Given the description of an element on the screen output the (x, y) to click on. 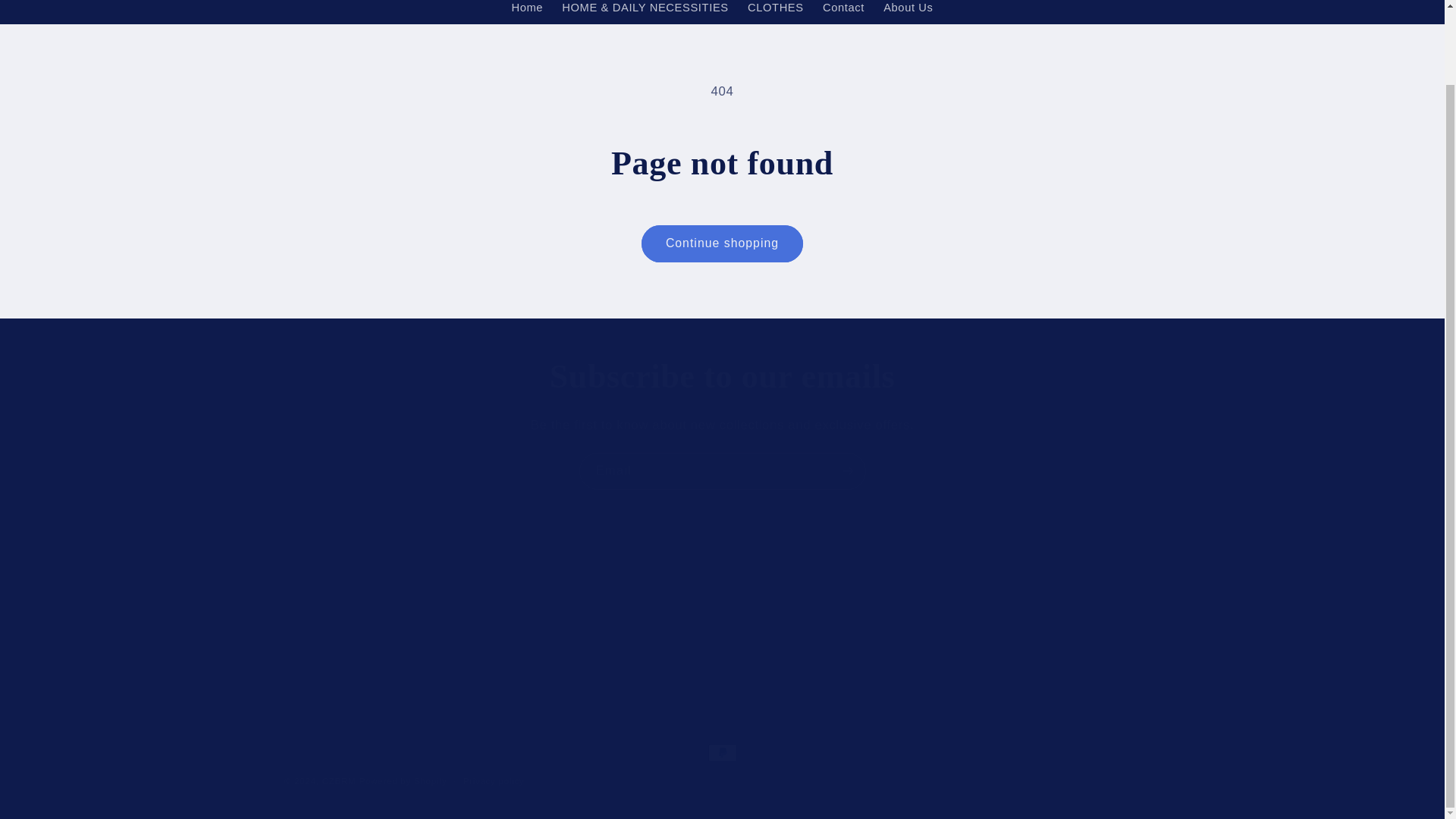
Contact (842, 12)
Contact us (612, 641)
Continue shopping (722, 243)
Email (721, 610)
Returns and Exchanges (722, 470)
Privacy policy (348, 614)
Powered by Shopify (493, 780)
Search (402, 780)
CLOTHES (602, 614)
Payment Method (775, 12)
Home (329, 587)
About Us (527, 12)
Subscribe to our emails (909, 12)
CZBRM (722, 376)
